Given the description of an element on the screen output the (x, y) to click on. 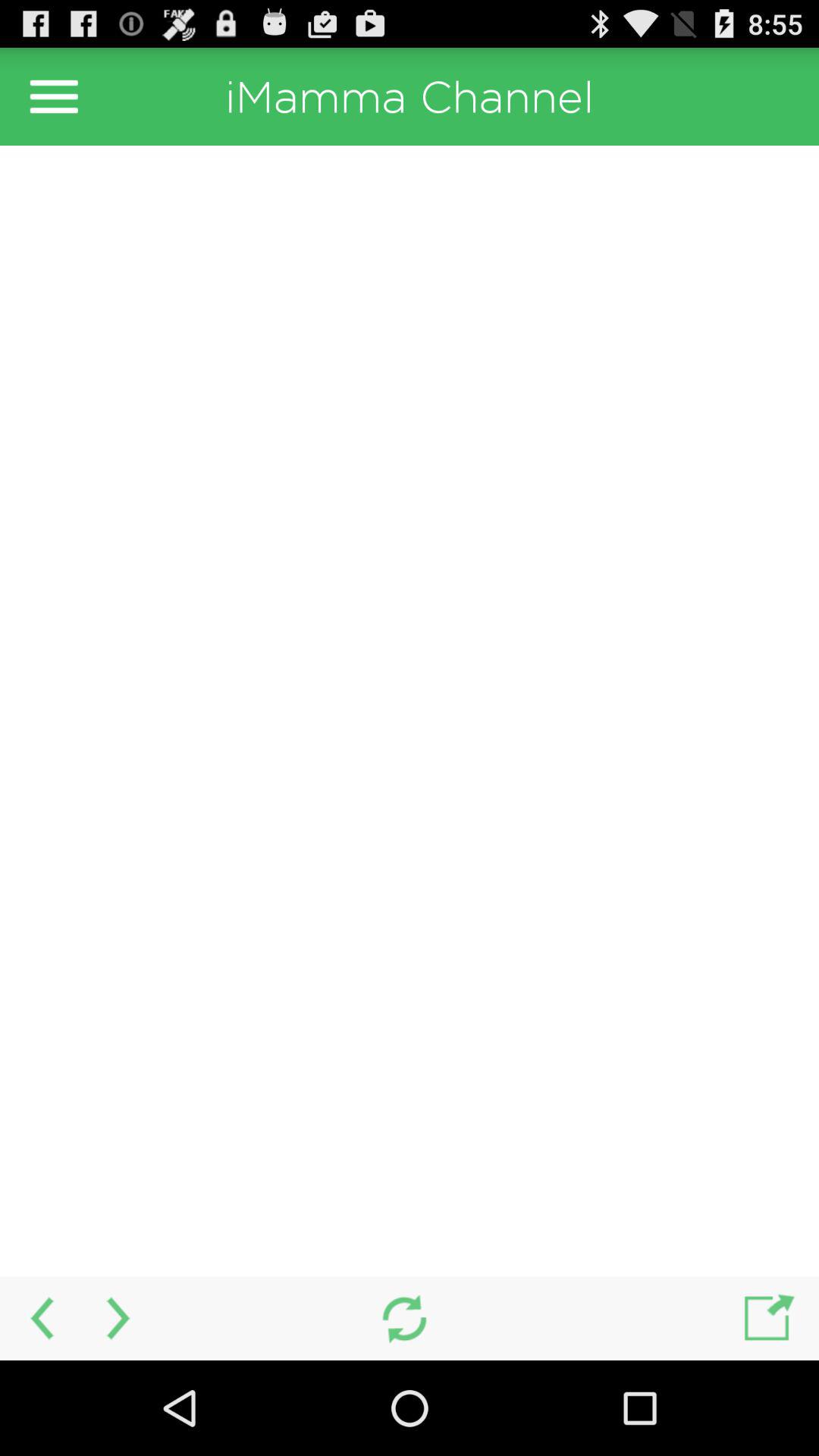
go to menu (53, 96)
